Given the description of an element on the screen output the (x, y) to click on. 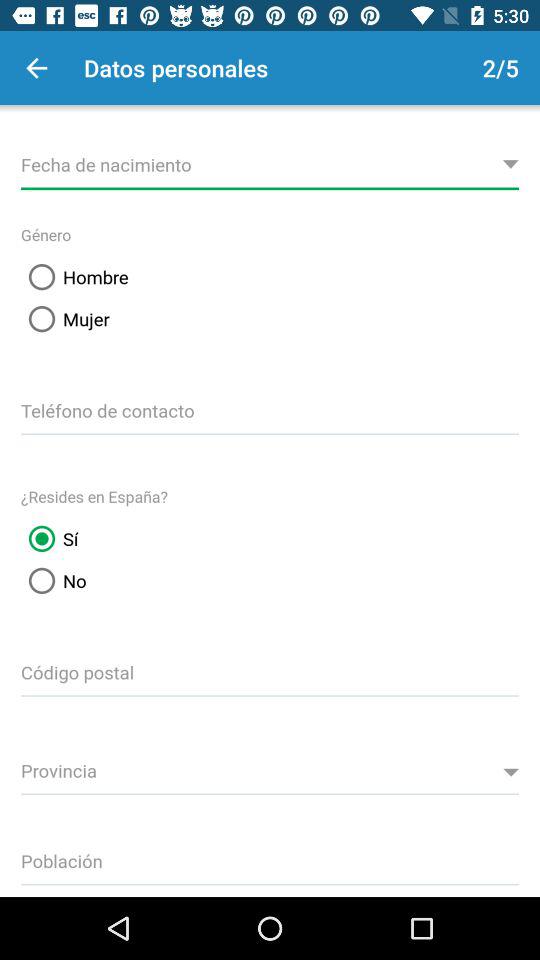
input contact number (270, 408)
